Given the description of an element on the screen output the (x, y) to click on. 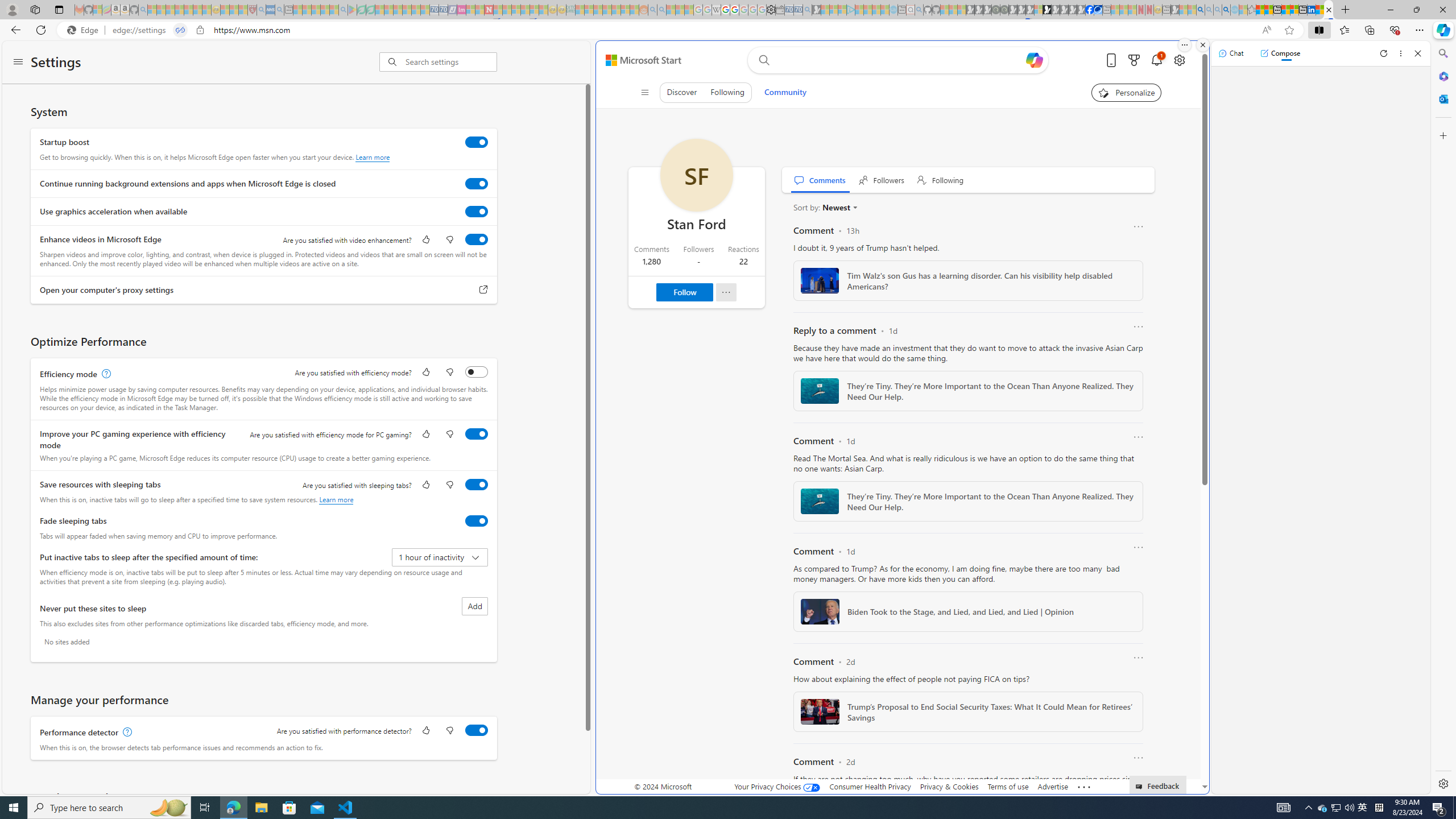
Community (785, 92)
Tabs in split screen (180, 29)
